Given the description of an element on the screen output the (x, y) to click on. 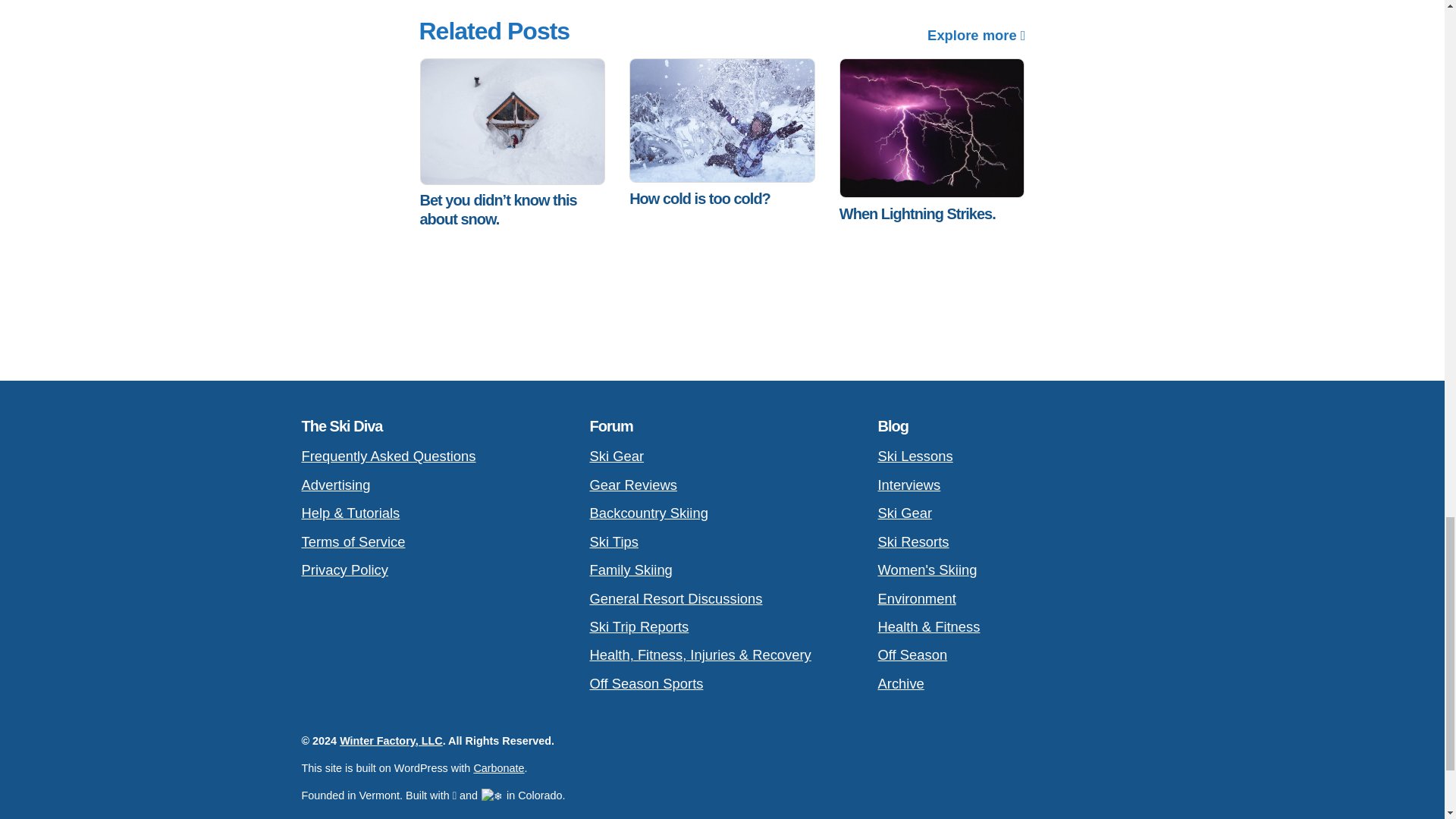
Family Skiing (722, 569)
Archive (1009, 683)
Blog (892, 425)
Winter Factory, LLC (390, 740)
Ski Resorts (1009, 541)
Backcountry Skiing (722, 512)
Off Season Sports (722, 683)
Privacy Policy (434, 569)
Women's Skiing (1009, 569)
Off Season (1009, 654)
